Given the description of an element on the screen output the (x, y) to click on. 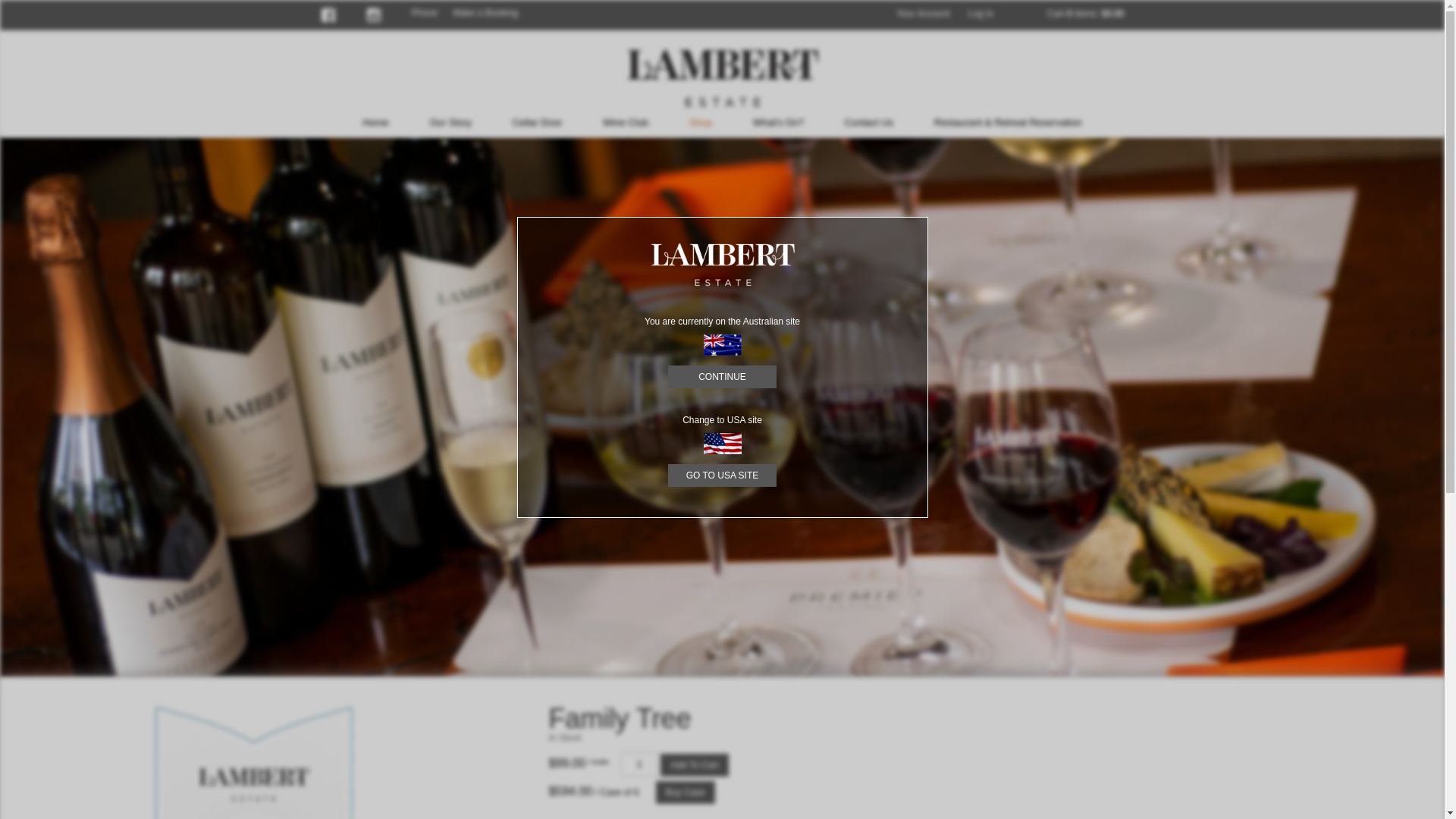
Cellar Door Element type: text (537, 122)
Lambert Estate Wines PTY LTD Element type: text (721, 77)
Phone Element type: text (424, 12)
Wine Club Element type: text (625, 122)
Log In Element type: text (980, 13)
Make a Booking Element type: text (484, 12)
Home Element type: text (375, 122)
Shop Element type: text (700, 122)
Add To Cart Element type: text (694, 764)
Contact Us Element type: text (868, 122)
Buy Case Element type: text (685, 792)
Restaurant & Retreat Reservation Element type: text (1008, 122)
Our Story Element type: text (450, 122)
CONTINUE Element type: text (722, 376)
Your Account Element type: text (922, 13)
What's On? Element type: text (778, 122)
GO TO USA SITE Element type: text (722, 475)
Cart 0 items: $0.00 Element type: text (1085, 13)
